Given the description of an element on the screen output the (x, y) to click on. 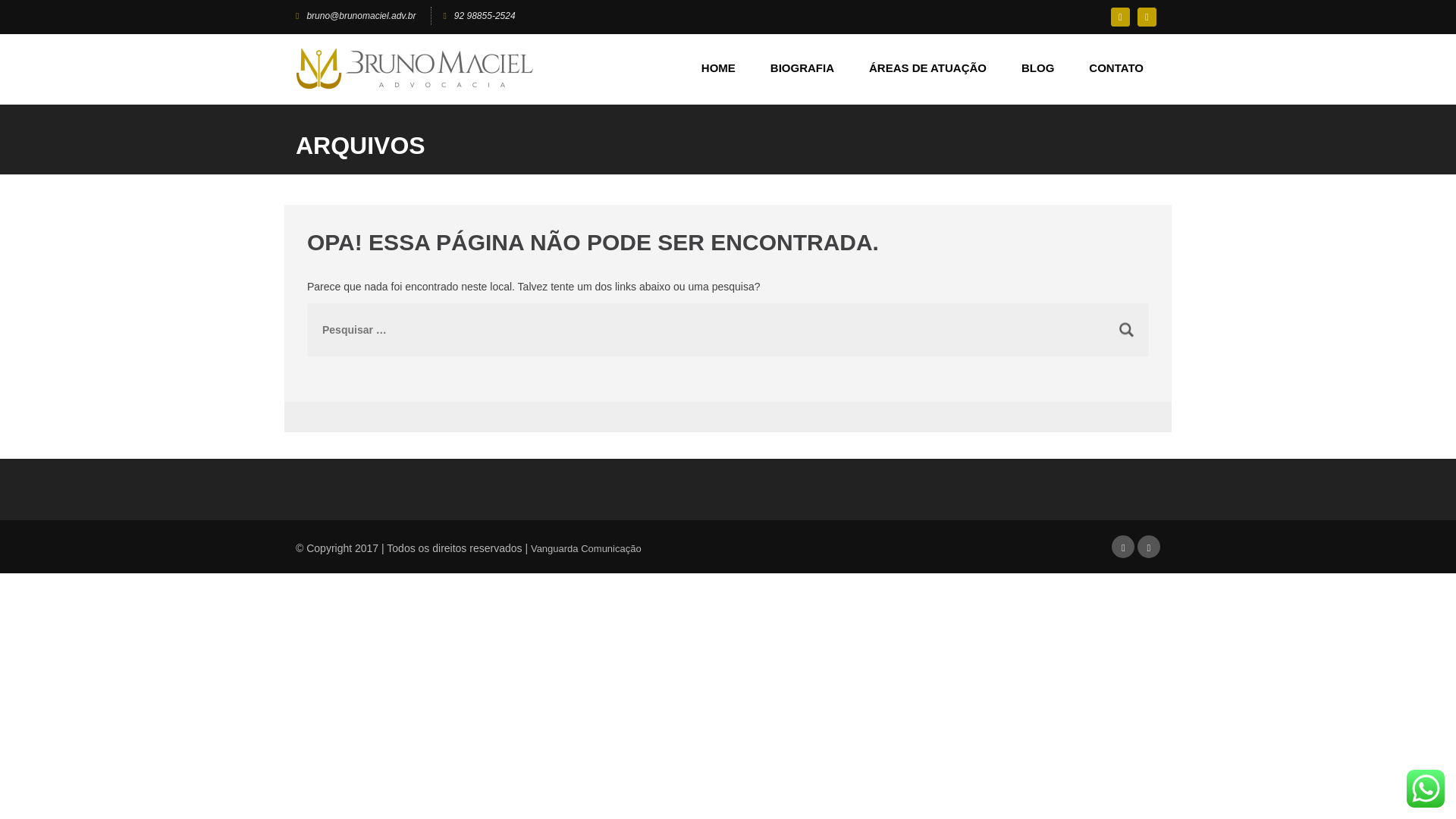
Pesquisar (1126, 329)
HOME (718, 68)
CONTATO (1115, 68)
Biografia (802, 68)
Home (718, 68)
Blog (1037, 68)
Pesquisar (1126, 329)
Contato (1115, 68)
BIOGRAFIA (802, 68)
